Given the description of an element on the screen output the (x, y) to click on. 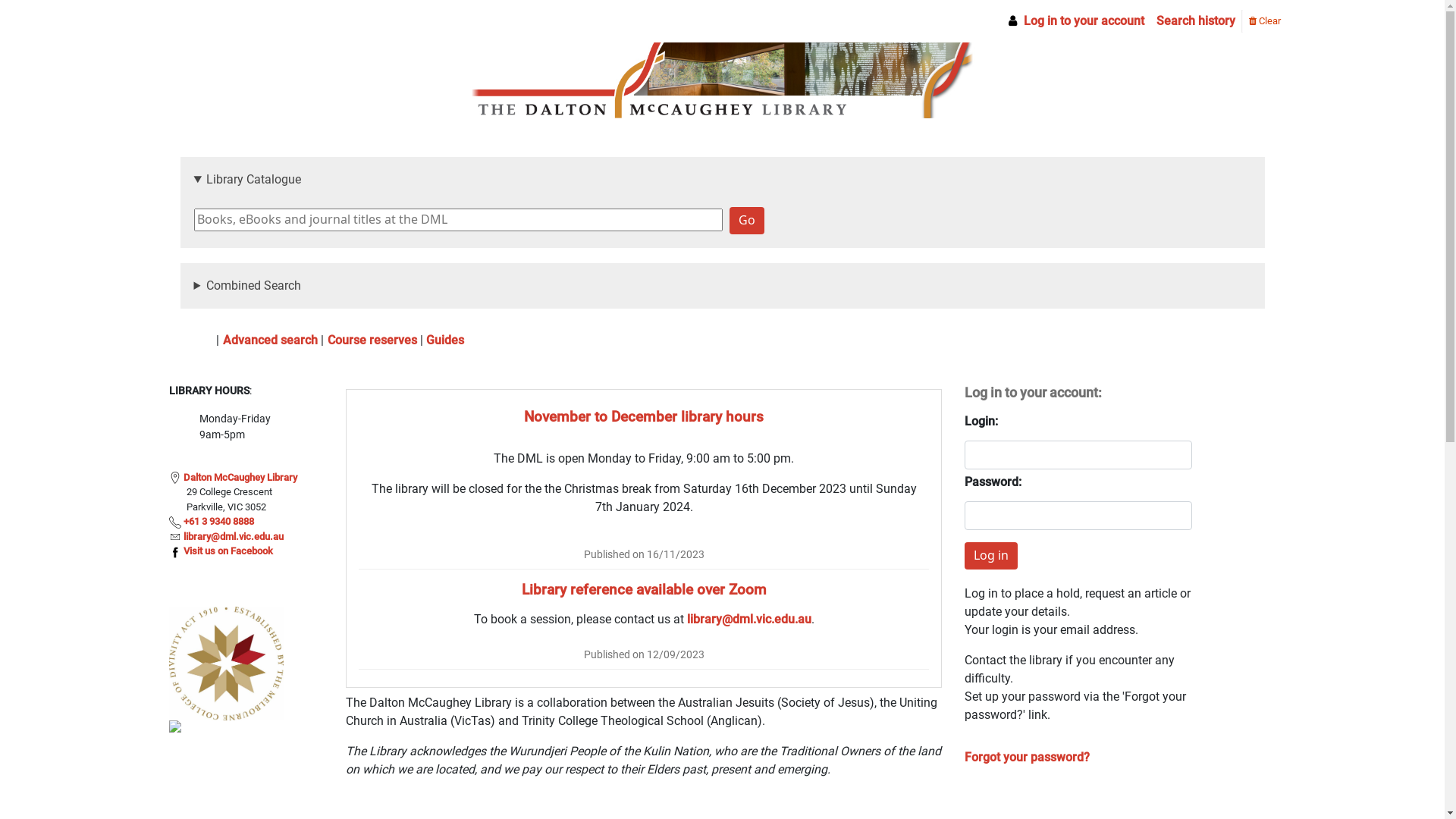
Clear Element type: text (1264, 20)
Library reference available over Zoom Element type: text (643, 589)
Guides Element type: text (445, 339)
library@dml.vic.edu.au Element type: text (233, 536)
Forgot your password? Element type: text (1026, 756)
library@dml.vic.edu.au Element type: text (749, 618)
Home Element type: text (198, 339)
Advanced search Element type: text (269, 339)
Log in to your account Element type: text (1074, 21)
Dalton McCaughey Library Element type: text (240, 477)
Go Element type: text (746, 220)
Course reserves Element type: text (372, 339)
November to December library hours Element type: text (643, 416)
Search history Element type: text (1194, 21)
+61 3 9340 8888 Element type: text (218, 521)
Log in Element type: text (990, 555)
Visit us on Facebook Element type: text (228, 550)
